Given the description of an element on the screen output the (x, y) to click on. 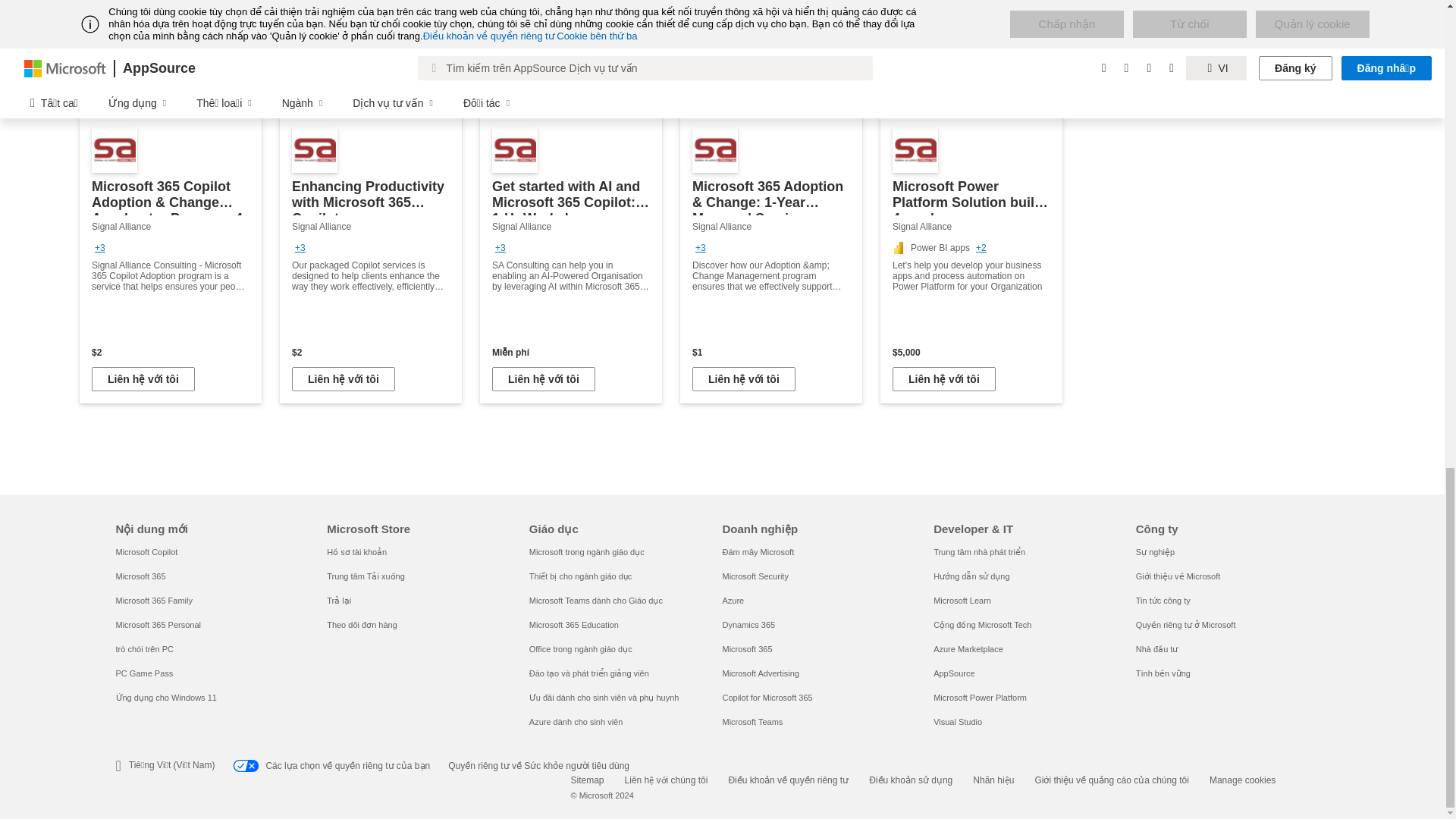
Microsoft Copilot (146, 551)
